Given the description of an element on the screen output the (x, y) to click on. 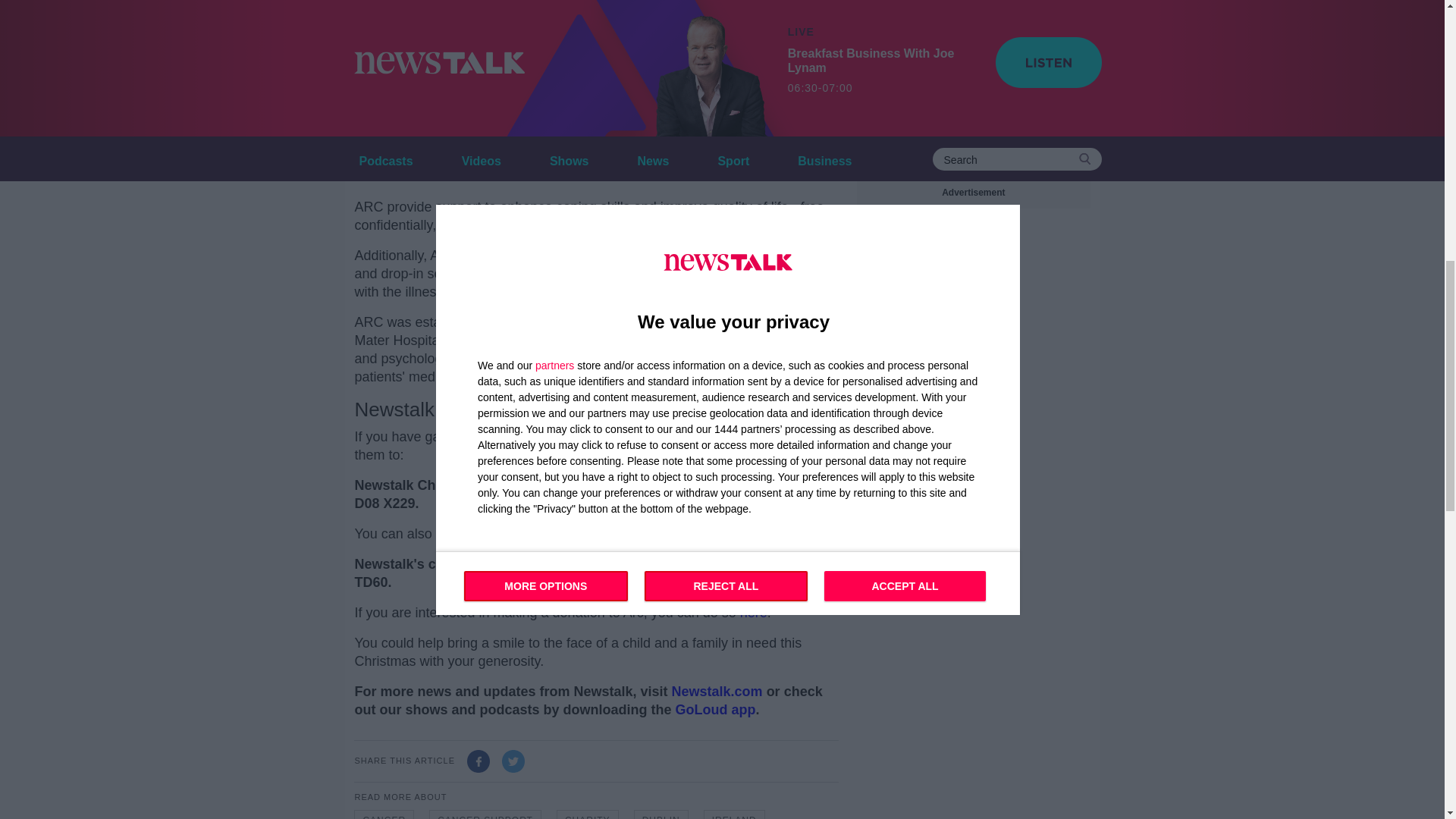
Newstalk.com (716, 691)
CANCER (383, 814)
here (753, 612)
CANCER SUPPORT (485, 814)
GoLoud app (715, 709)
DUBLIN (660, 814)
CHARITY (587, 814)
